Given the description of an element on the screen output the (x, y) to click on. 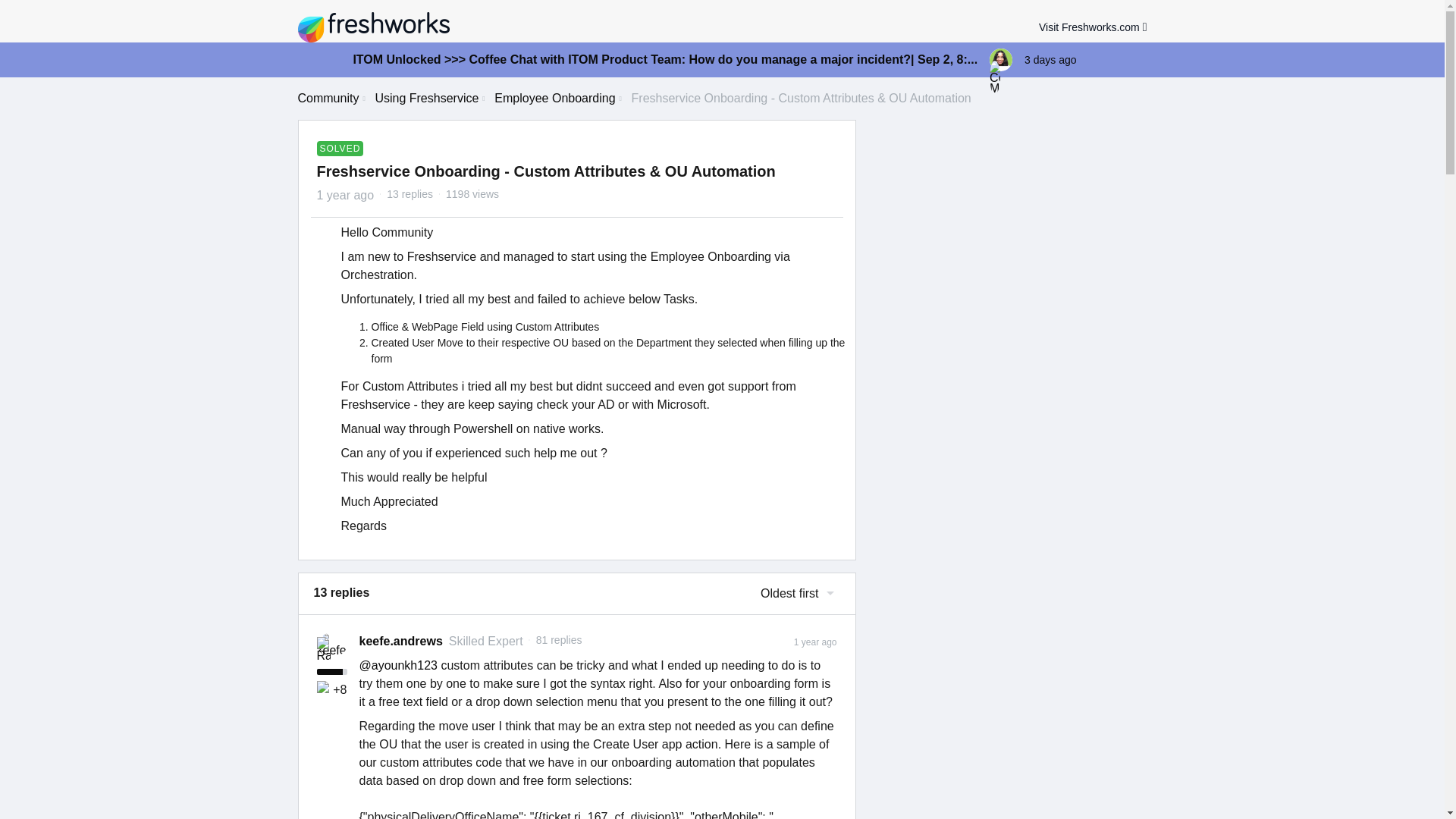
Using Freshservice (426, 98)
Employee Onboarding (554, 98)
keefe.andrews (400, 641)
keefe.andrews (400, 641)
Visit Freshworks.com (1093, 27)
1 year ago (815, 640)
13 replies (409, 193)
The Freshservice Ninja (324, 688)
Community (327, 98)
